Given the description of an element on the screen output the (x, y) to click on. 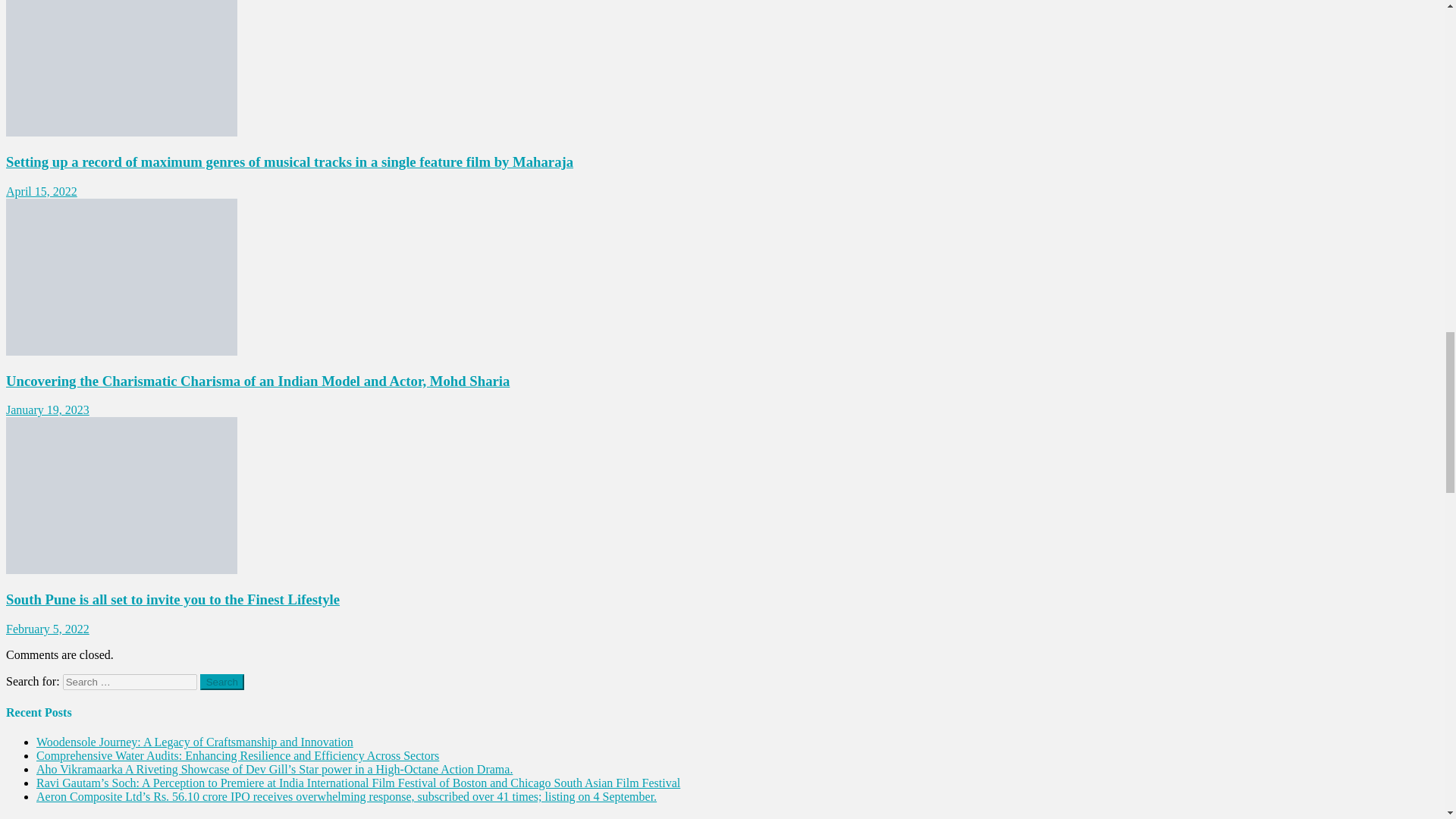
January 19, 2023 (46, 409)
Search (222, 682)
Search (222, 682)
April 15, 2022 (41, 191)
